Given the description of an element on the screen output the (x, y) to click on. 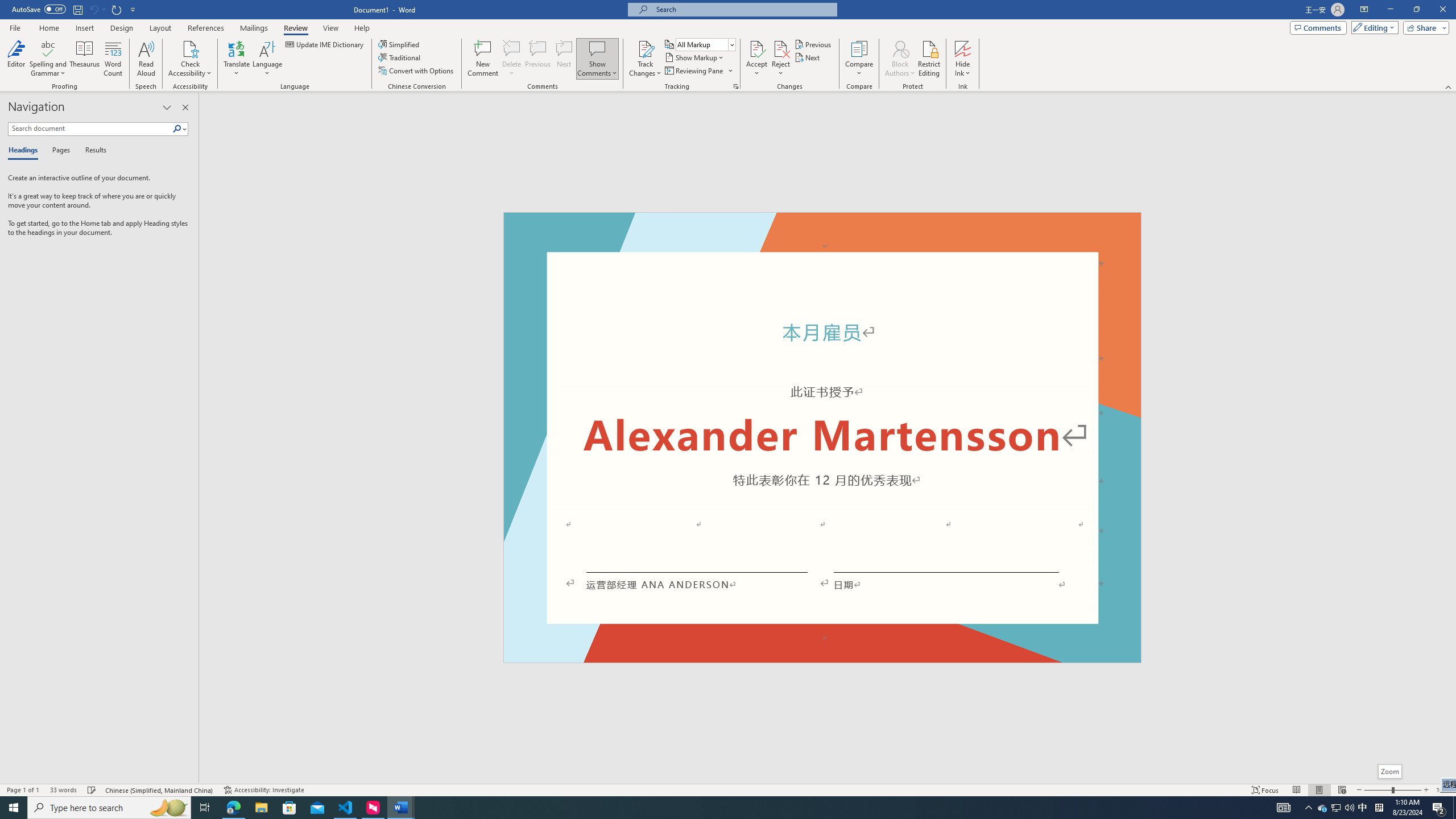
Read Aloud (145, 58)
Previous (813, 44)
Can't Undo (92, 9)
Hide Ink (962, 48)
